Given the description of an element on the screen output the (x, y) to click on. 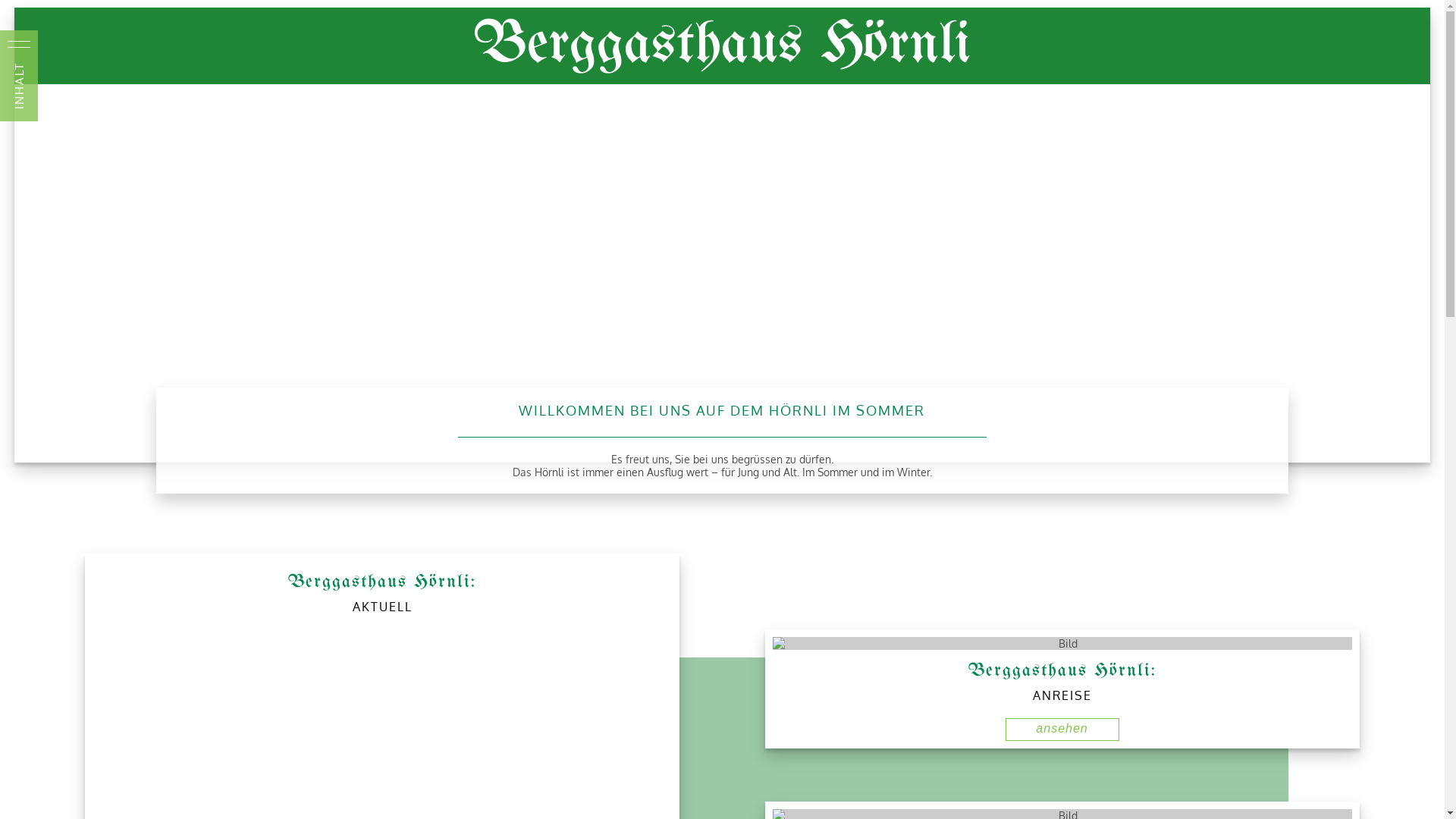
ansehen
ansehen Element type: text (1062, 729)
